Given the description of an element on the screen output the (x, y) to click on. 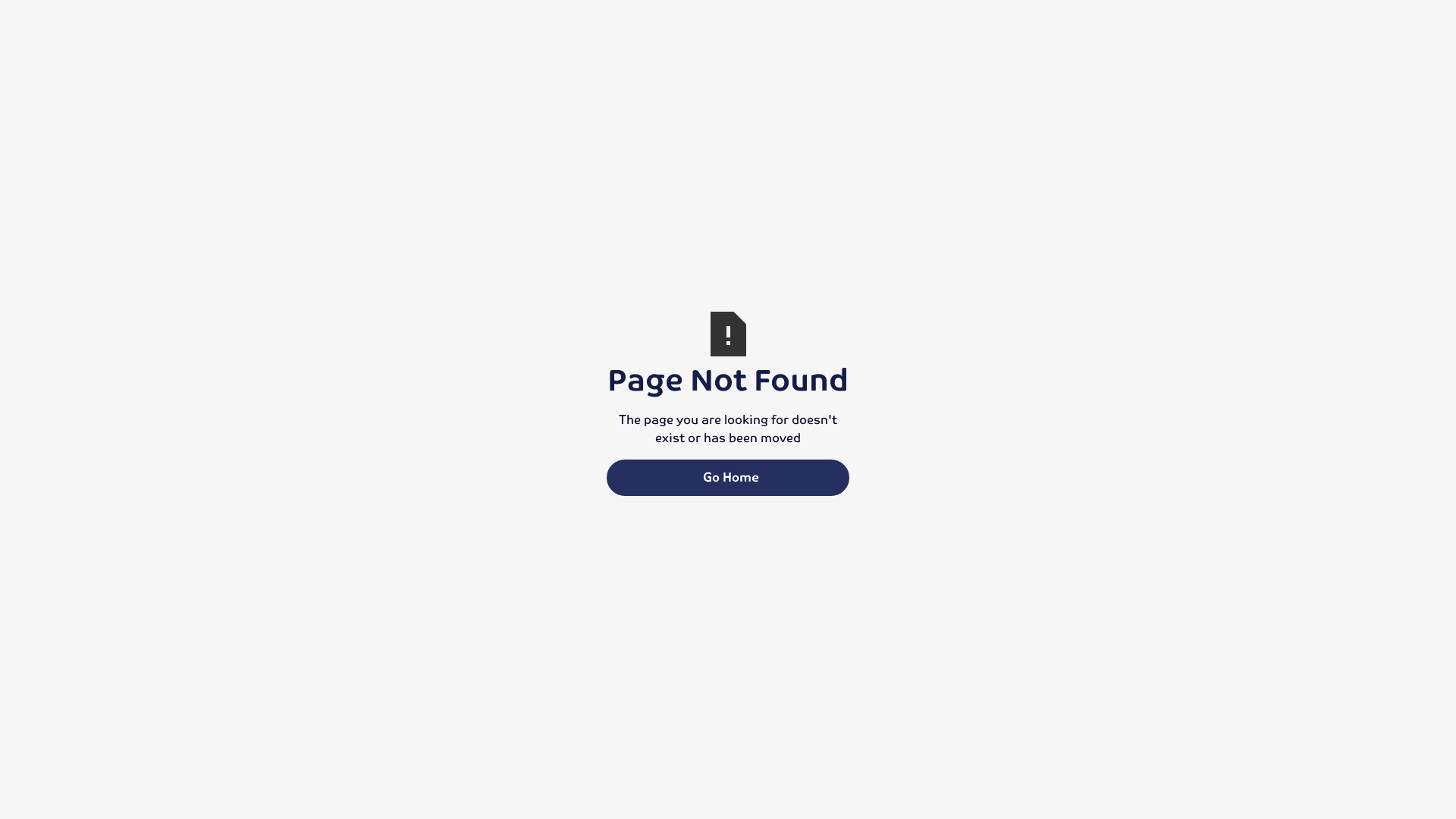
Go Home Element type: text (727, 477)
